Given the description of an element on the screen output the (x, y) to click on. 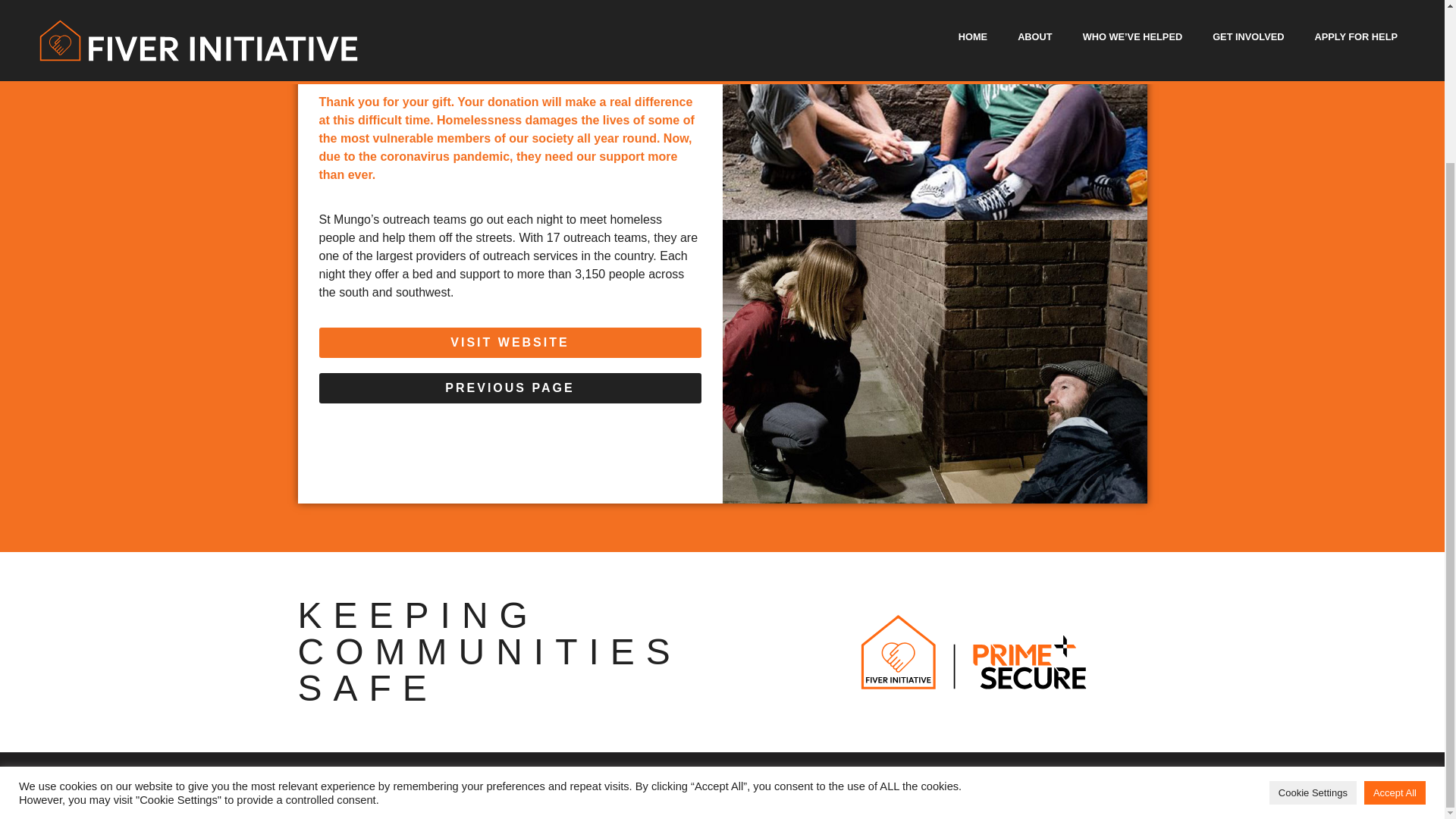
Privacy Policy (732, 777)
Cookie Policy (672, 777)
VISIT WEBSITE (509, 342)
Accept All (1394, 599)
Sitemap (780, 777)
Cookie Settings (1312, 599)
PREVIOUS PAGE (509, 388)
